Given the description of an element on the screen output the (x, y) to click on. 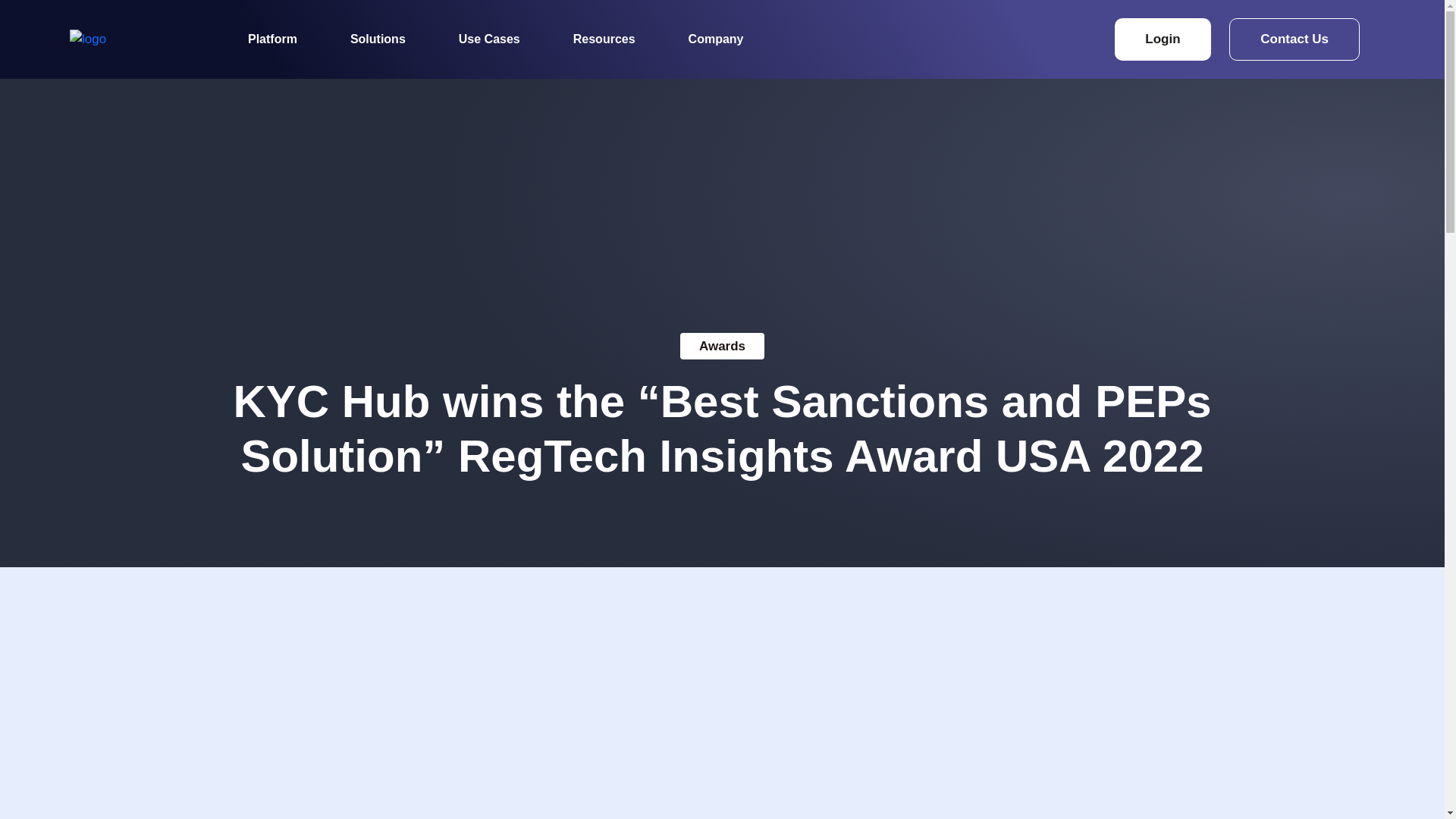
Platform (272, 39)
Solutions (377, 39)
Use Cases (489, 39)
